Given the description of an element on the screen output the (x, y) to click on. 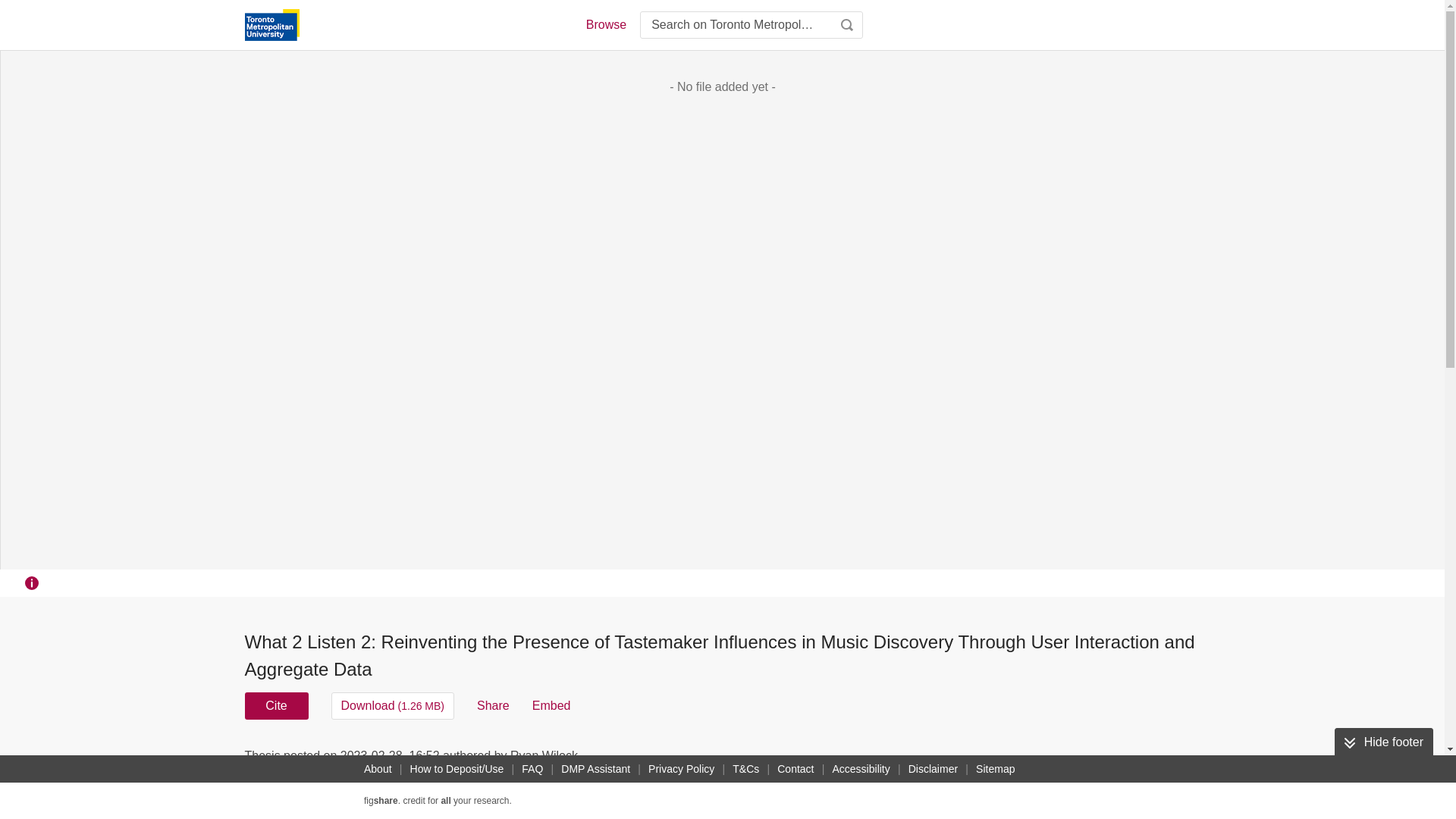
Hide footer (1383, 742)
About (377, 769)
Browse (605, 24)
Privacy Policy (681, 769)
Embed (551, 705)
DMP Assistant (595, 769)
USAGE METRICS (976, 759)
Sitemap (995, 769)
Share (493, 705)
FAQ (531, 769)
